Given the description of an element on the screen output the (x, y) to click on. 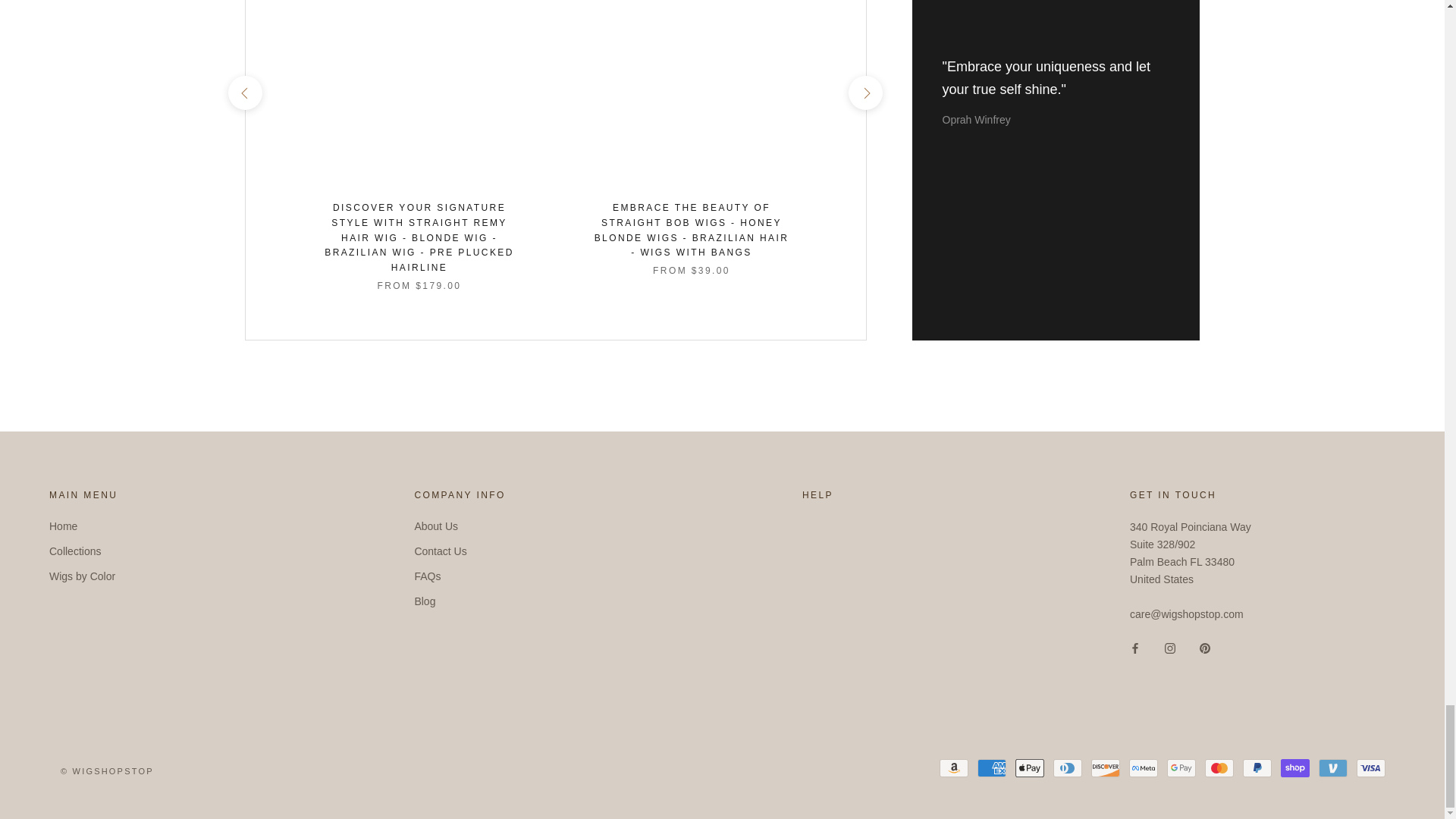
Amazon (953, 768)
Discover (1104, 768)
Meta Pay (1143, 768)
American Express (991, 768)
Google Pay (1181, 768)
Mastercard (1219, 768)
Apple Pay (1028, 768)
Diners Club (1066, 768)
